Given the description of an element on the screen output the (x, y) to click on. 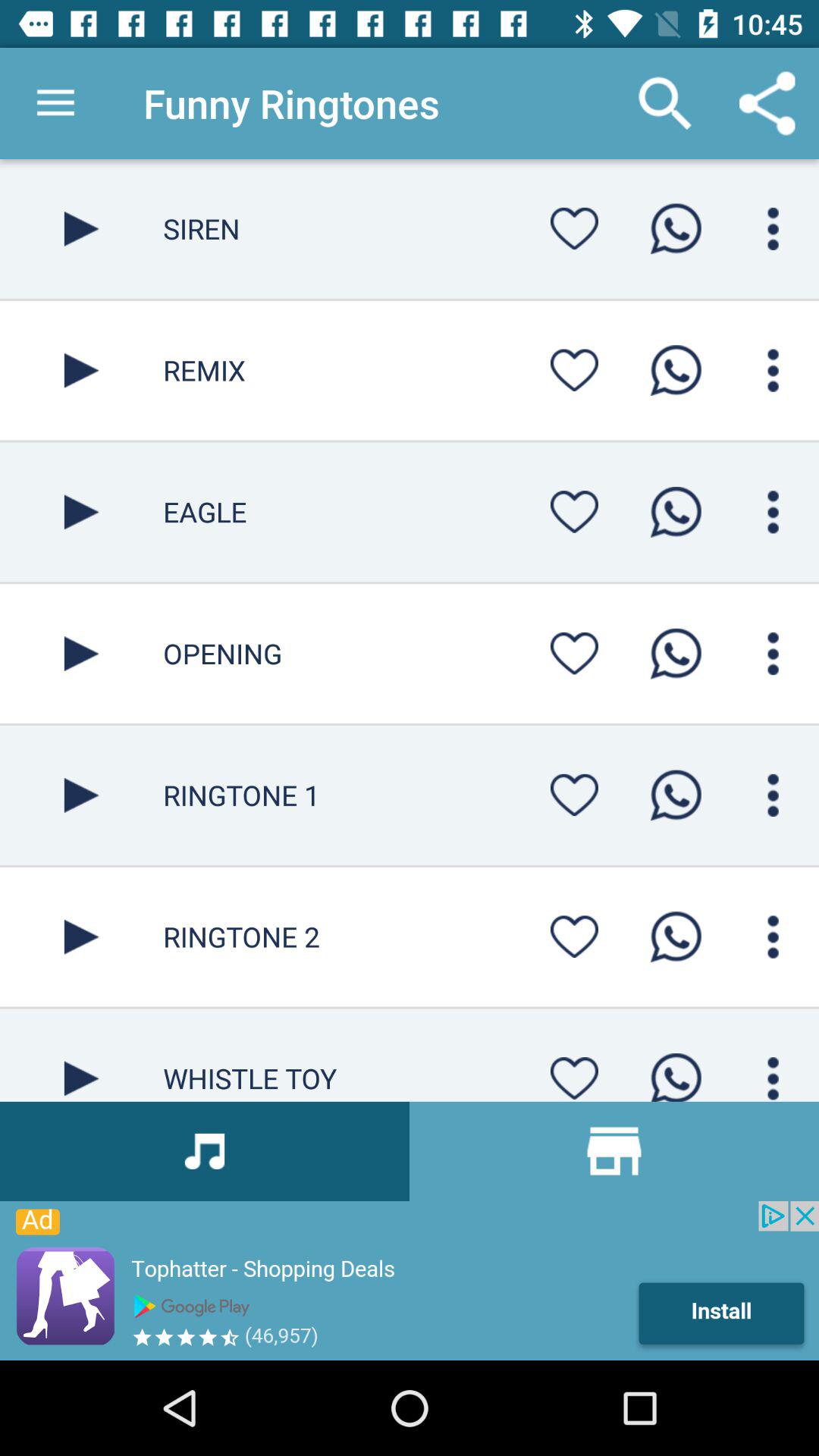
mark as favorite (574, 369)
